Given the description of an element on the screen output the (x, y) to click on. 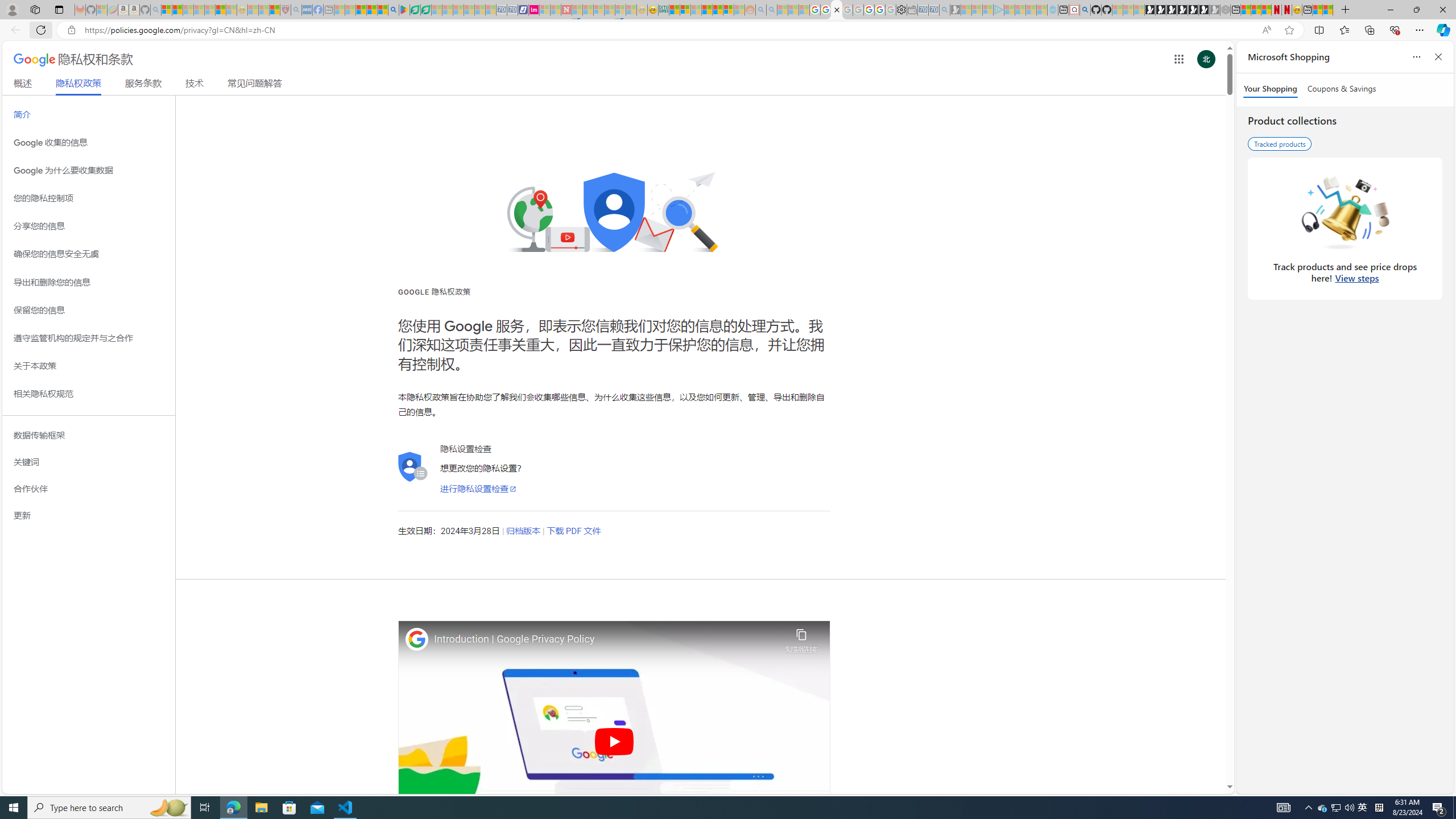
Introduction | Google Privacy Policy (606, 639)
